Given the description of an element on the screen output the (x, y) to click on. 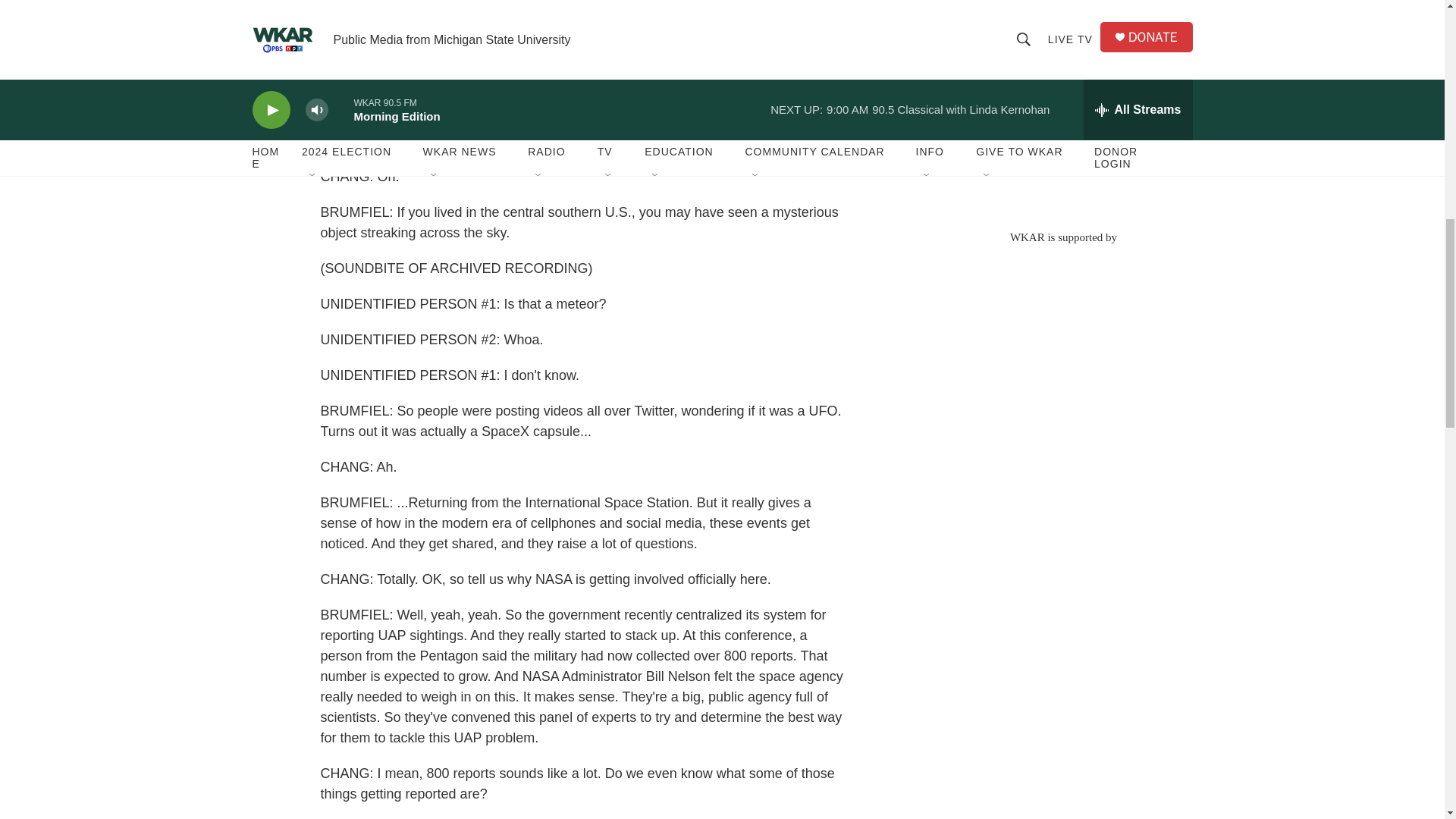
3rd party ad content (1062, 353)
3rd party ad content (1062, 105)
